Given the description of an element on the screen output the (x, y) to click on. 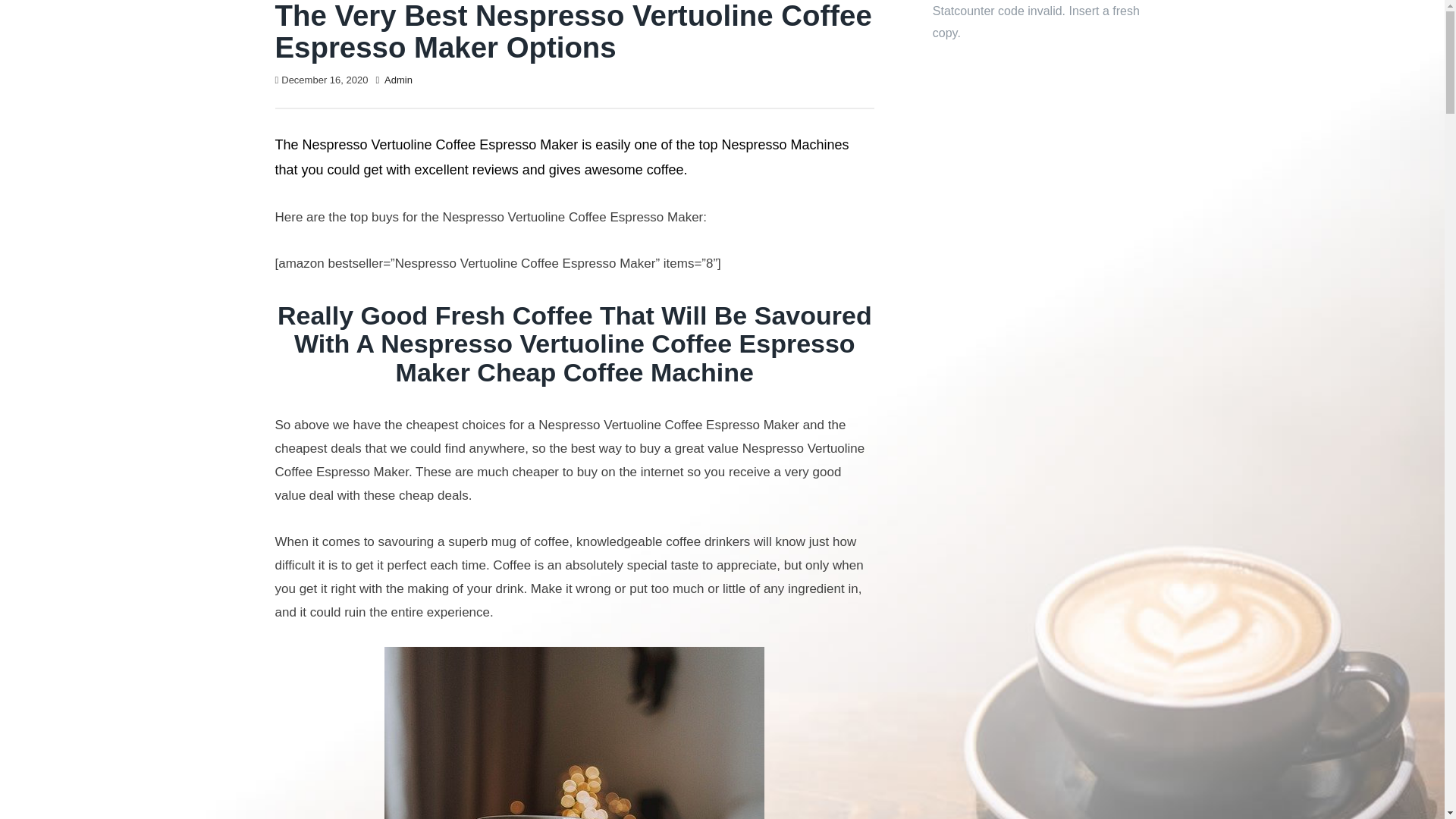
December 16, 2020 (324, 79)
Admin (398, 79)
Black Friday Delonghi Coffee Machine (574, 733)
